Given the description of an element on the screen output the (x, y) to click on. 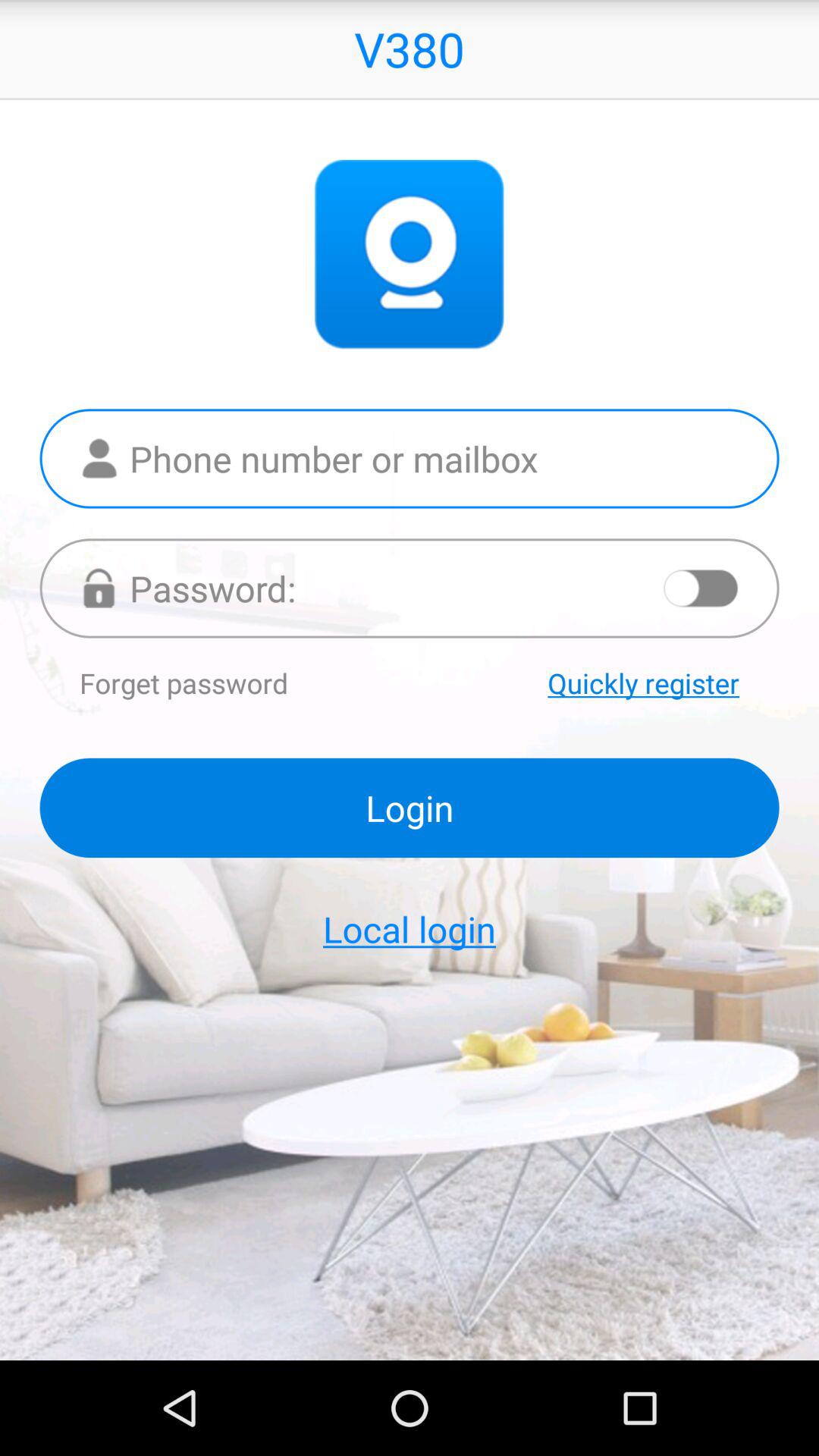
text box (409, 458)
